Given the description of an element on the screen output the (x, y) to click on. 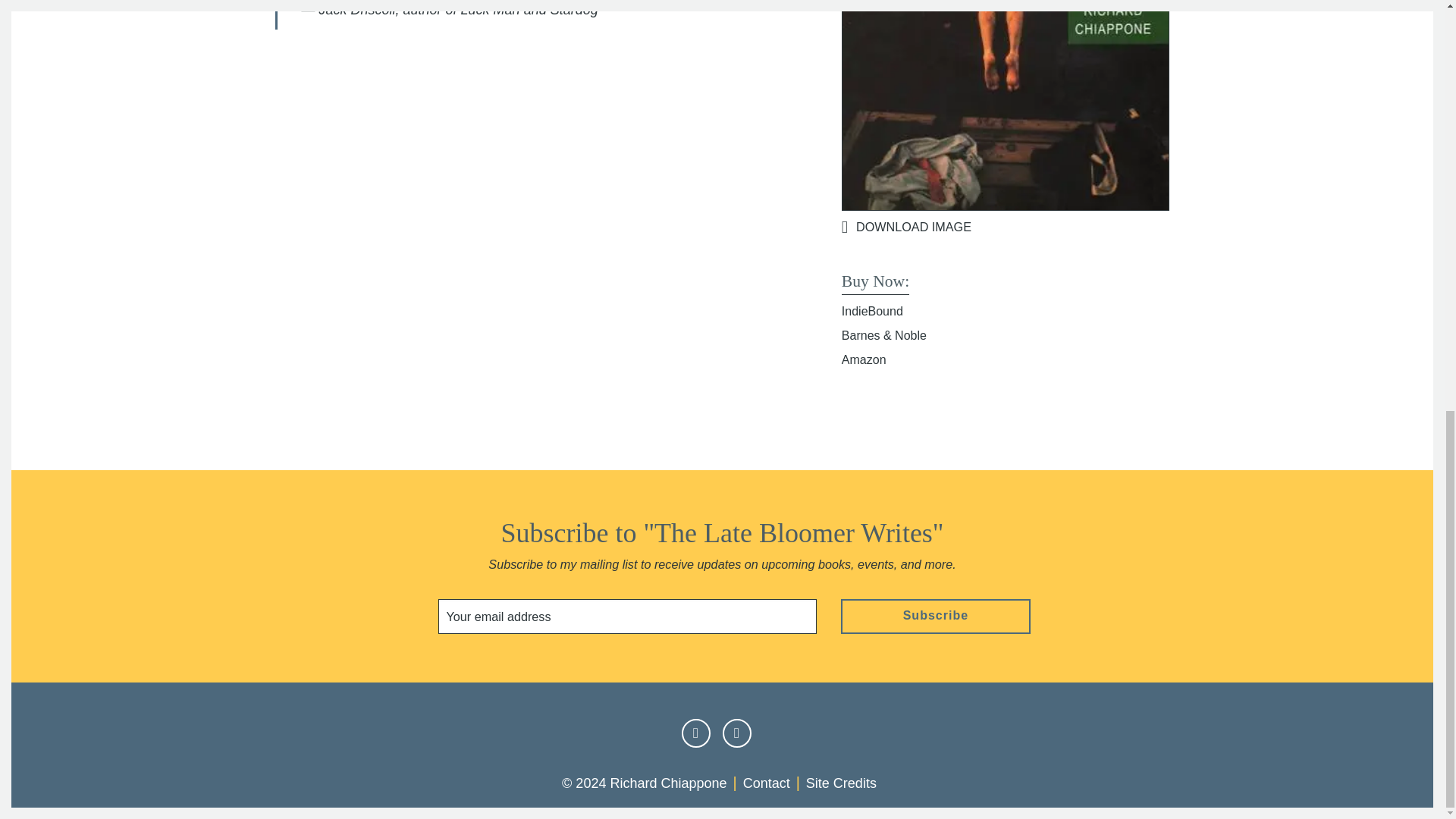
Amazon (863, 359)
Site Credits (841, 783)
DOWNLOAD IMAGE (1005, 226)
Contact (766, 783)
Subscribe (935, 615)
IndieBound (871, 310)
